Given the description of an element on the screen output the (x, y) to click on. 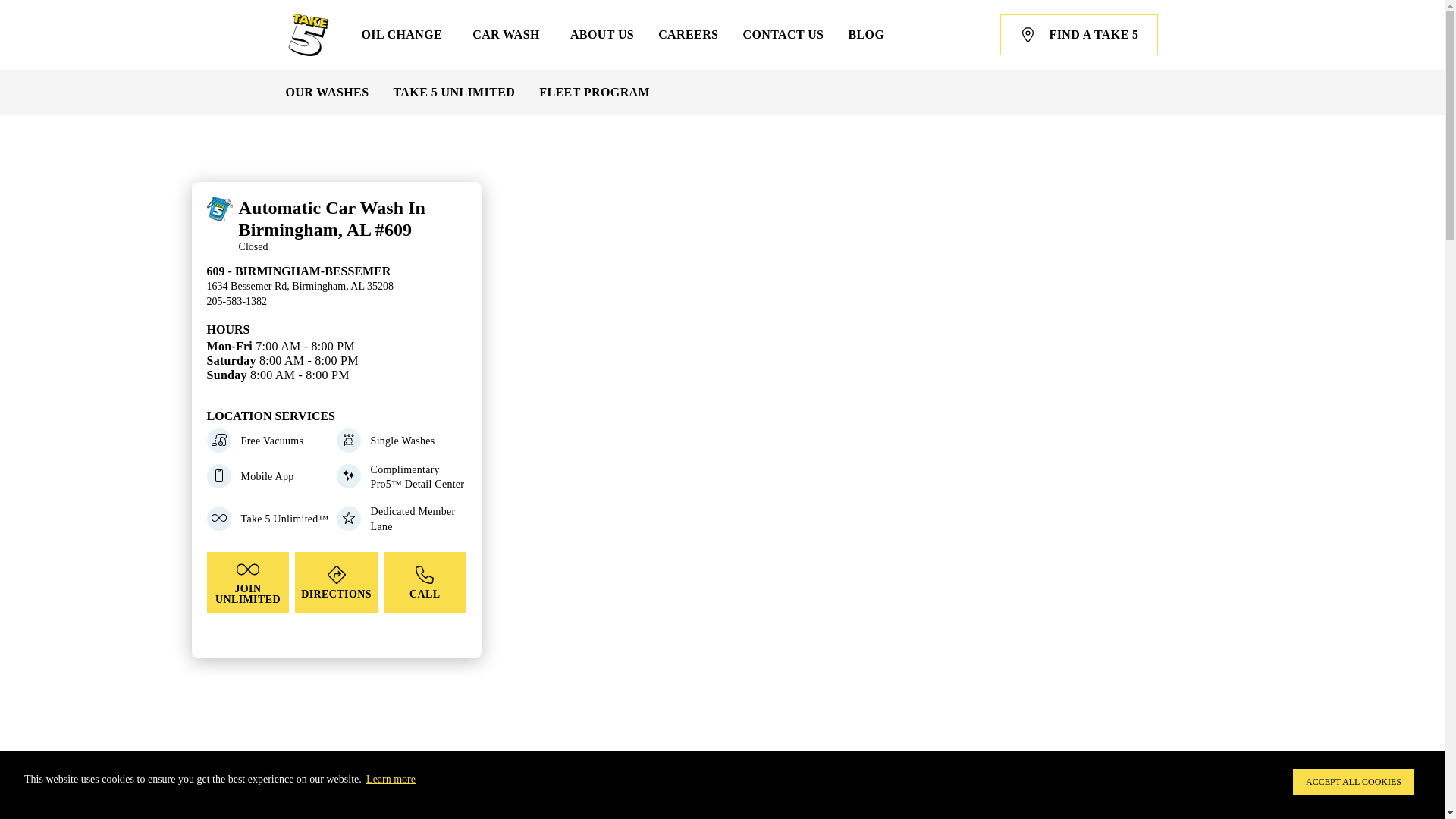
DIRECTIONS (336, 582)
ABOUT US (601, 34)
Alabama (309, 816)
TAKE 5 UNLIMITED (454, 92)
FIND A TAKE 5 (1078, 34)
JOIN UNLIMITED (247, 582)
CAR WASH (508, 34)
CONTACT US (783, 34)
Back (335, 206)
OUR WASHES (326, 92)
FLEET PROGRAM (593, 92)
CALL (424, 582)
Birmingham (383, 816)
BLOG (865, 34)
ACCEPT ALL COOKIES (1352, 781)
